Given the description of an element on the screen output the (x, y) to click on. 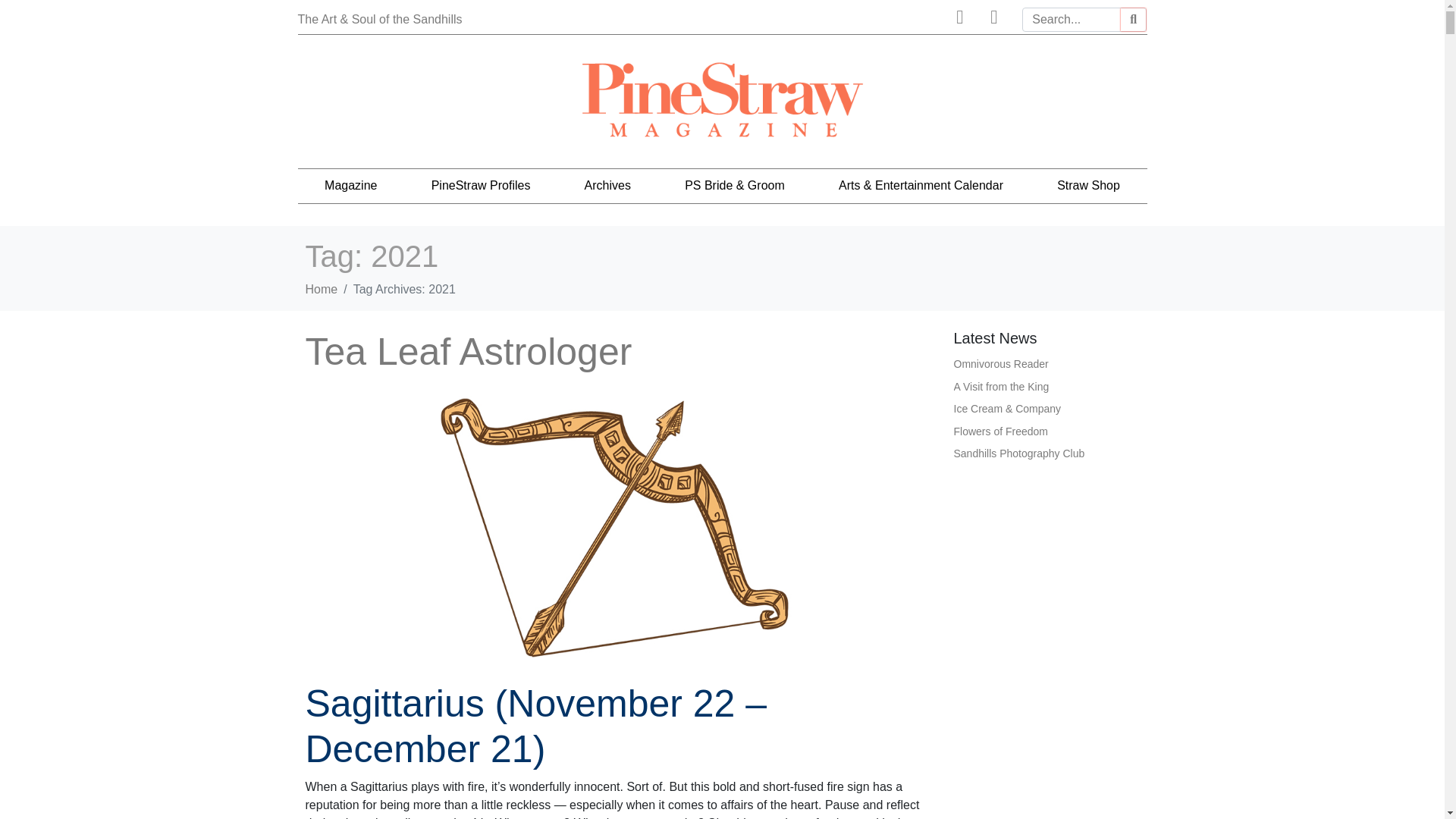
Tea Leaf Astrologer (613, 526)
Home (320, 288)
PineStraw Profiles (480, 185)
Straw Shop (1088, 185)
Magazine (350, 185)
Magazine (350, 185)
Tea Leaf Astrologer (467, 351)
Archives (607, 185)
Tea Leaf Astrologer (467, 351)
